Given the description of an element on the screen output the (x, y) to click on. 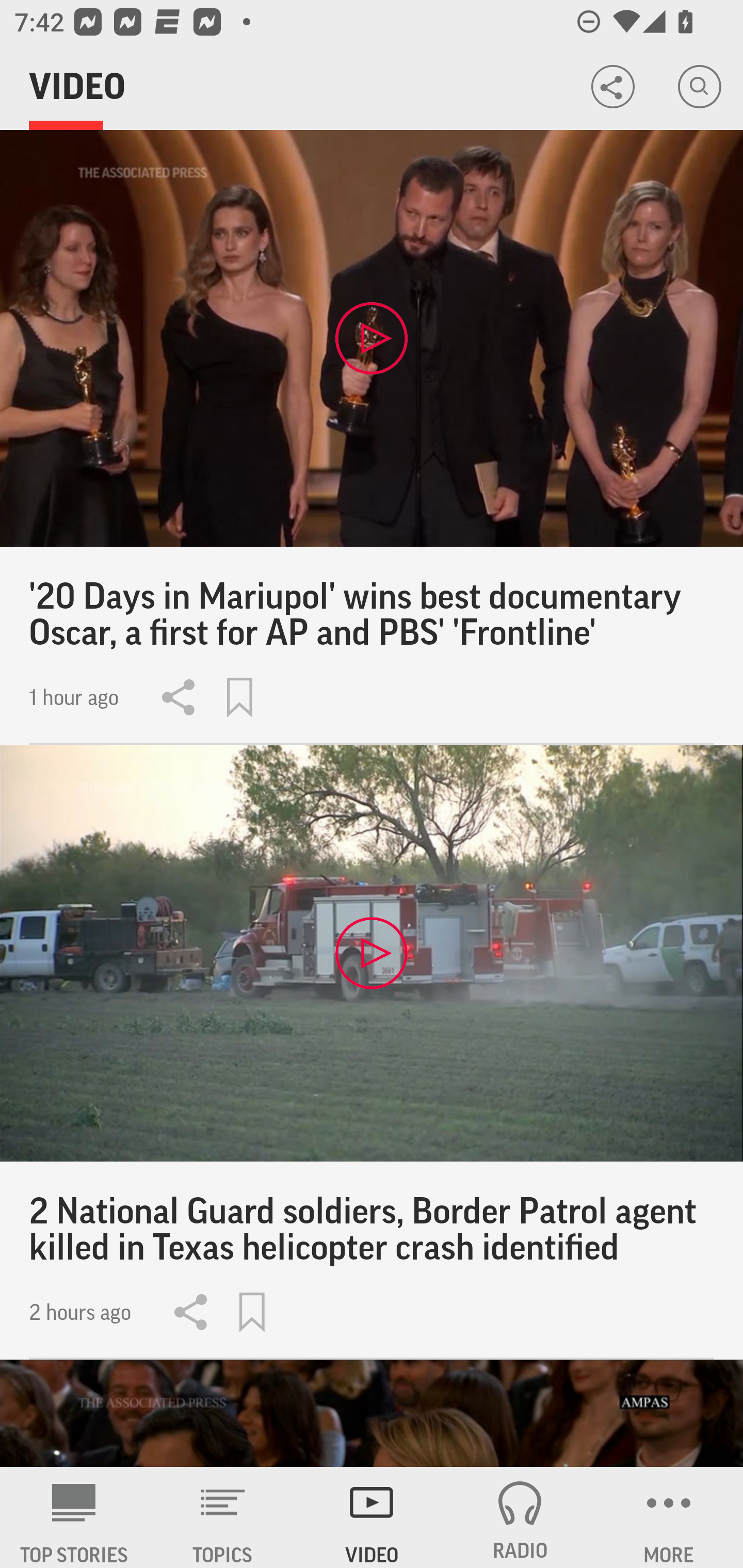
AP News TOP STORIES (74, 1517)
TOPICS (222, 1517)
VIDEO (371, 1517)
RADIO (519, 1517)
MORE (668, 1517)
